Given the description of an element on the screen output the (x, y) to click on. 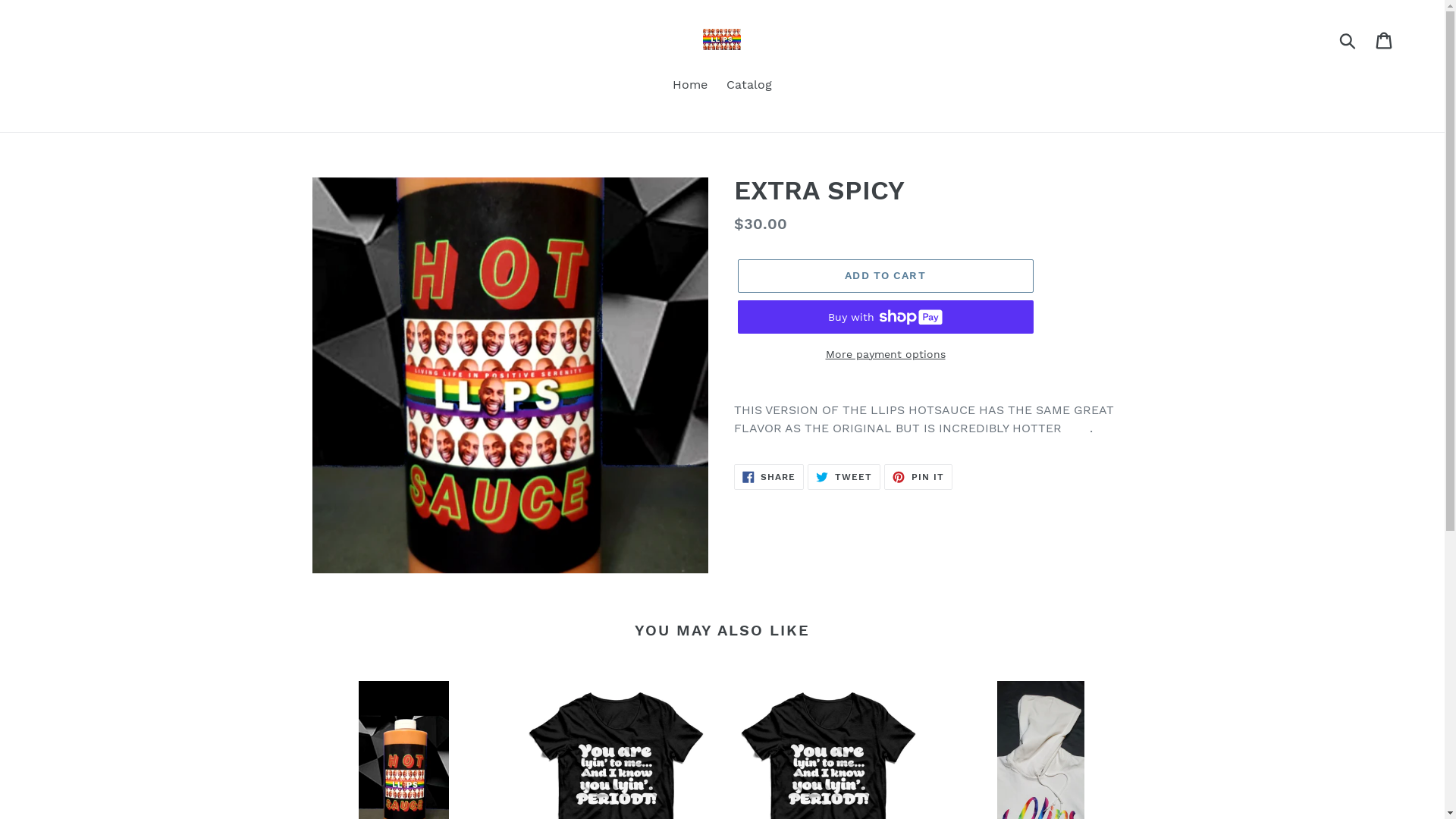
More payment options Element type: text (884, 354)
Cart Element type: text (1384, 39)
PIN IT
PIN ON PINTEREST Element type: text (918, 476)
Submit Element type: text (1348, 39)
TWEET
TWEET ON TWITTER Element type: text (843, 476)
Catalog Element type: text (748, 85)
SHARE
SHARE ON FACEBOOK Element type: text (769, 476)
Home Element type: text (690, 85)
ADD TO CART Element type: text (884, 275)
